Given the description of an element on the screen output the (x, y) to click on. 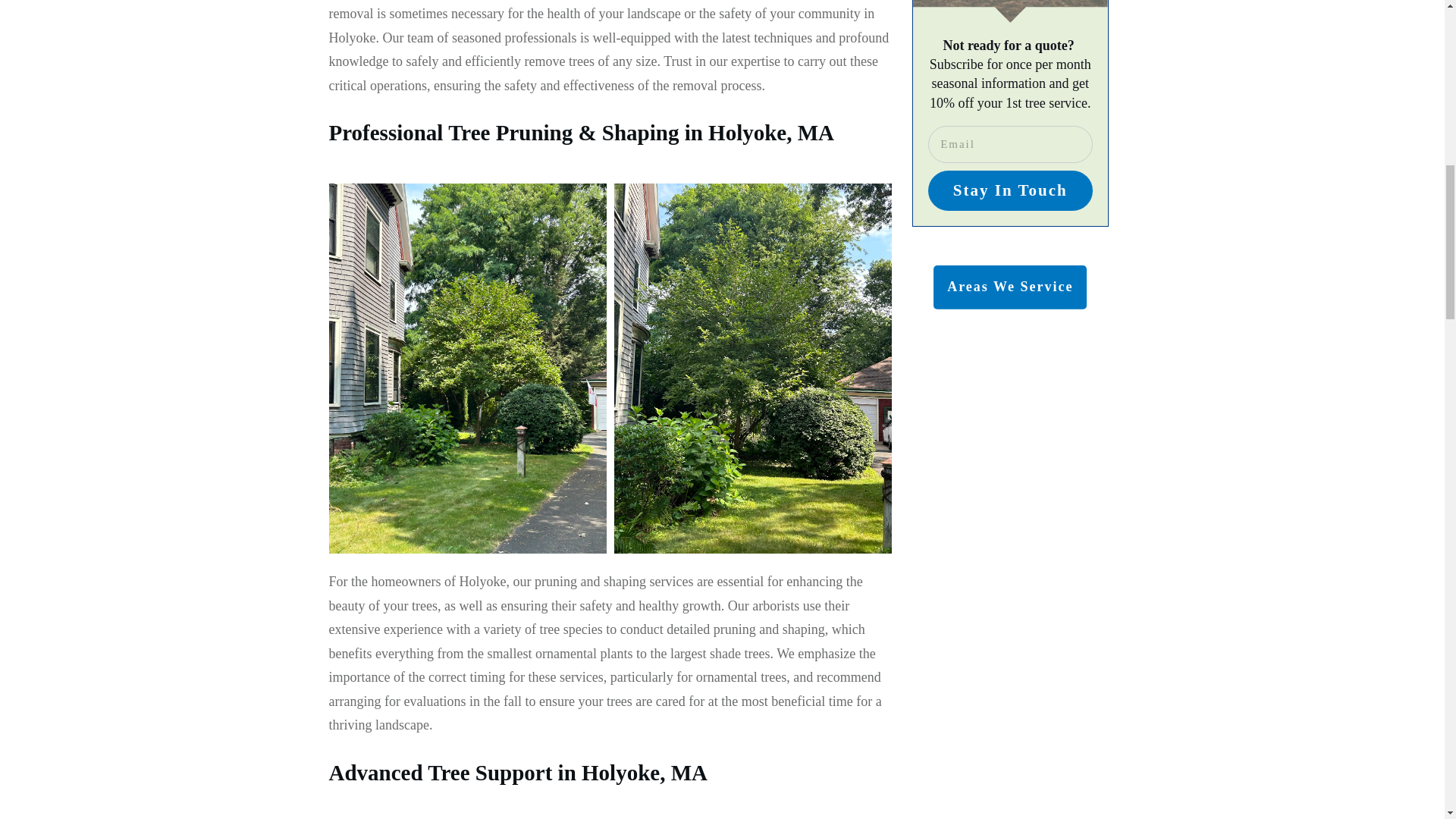
Stay In Touch (1010, 190)
Areas We Service (1009, 287)
